Given the description of an element on the screen output the (x, y) to click on. 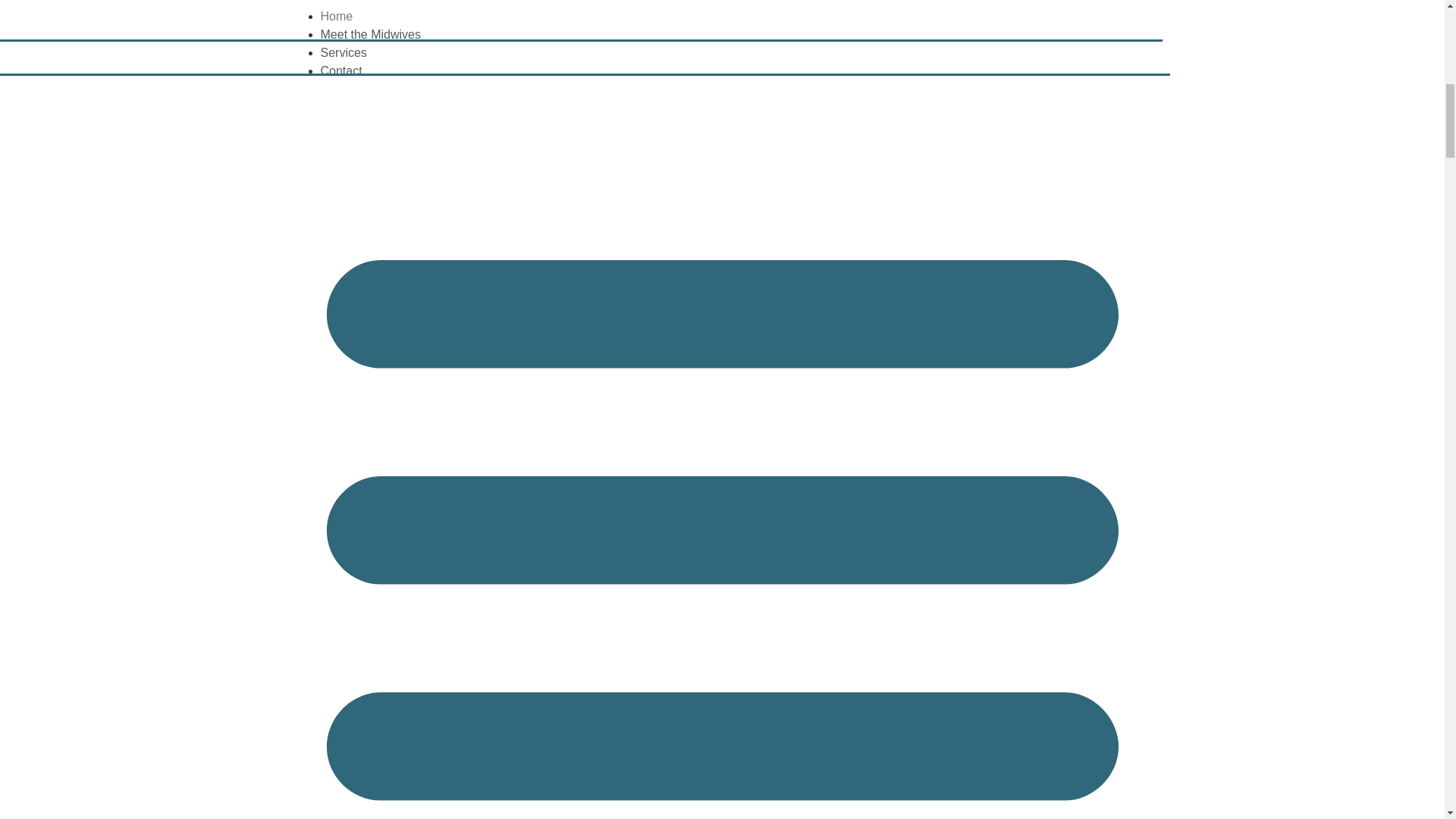
Services (343, 51)
Meet the Midwives (370, 33)
Contact (340, 70)
Home (336, 15)
